Given the description of an element on the screen output the (x, y) to click on. 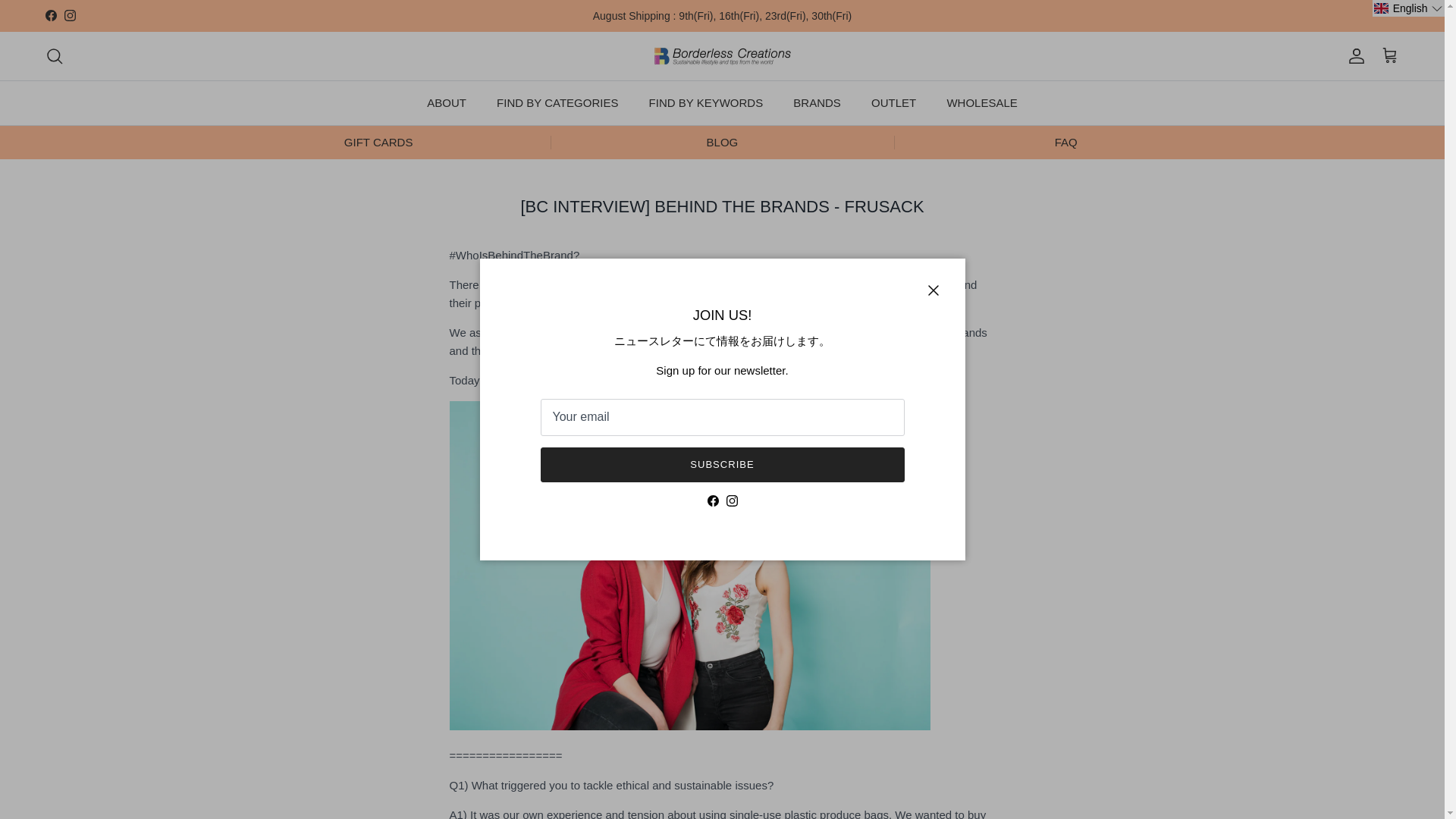
Borderless Creations on Instagram (732, 500)
Account (1352, 55)
Borderless Creations on Facebook (50, 15)
FIND BY CATEGORIES (557, 103)
Instagram (69, 15)
WHOLESALE (981, 103)
Borderless Creations (721, 55)
Search (54, 55)
BRANDS (816, 103)
Cart (1389, 55)
Borderless Creations on Instagram (69, 15)
ABOUT (446, 103)
FIND BY KEYWORDS (705, 103)
Facebook (50, 15)
Borderless Creations on Facebook (711, 500)
